Given the description of an element on the screen output the (x, y) to click on. 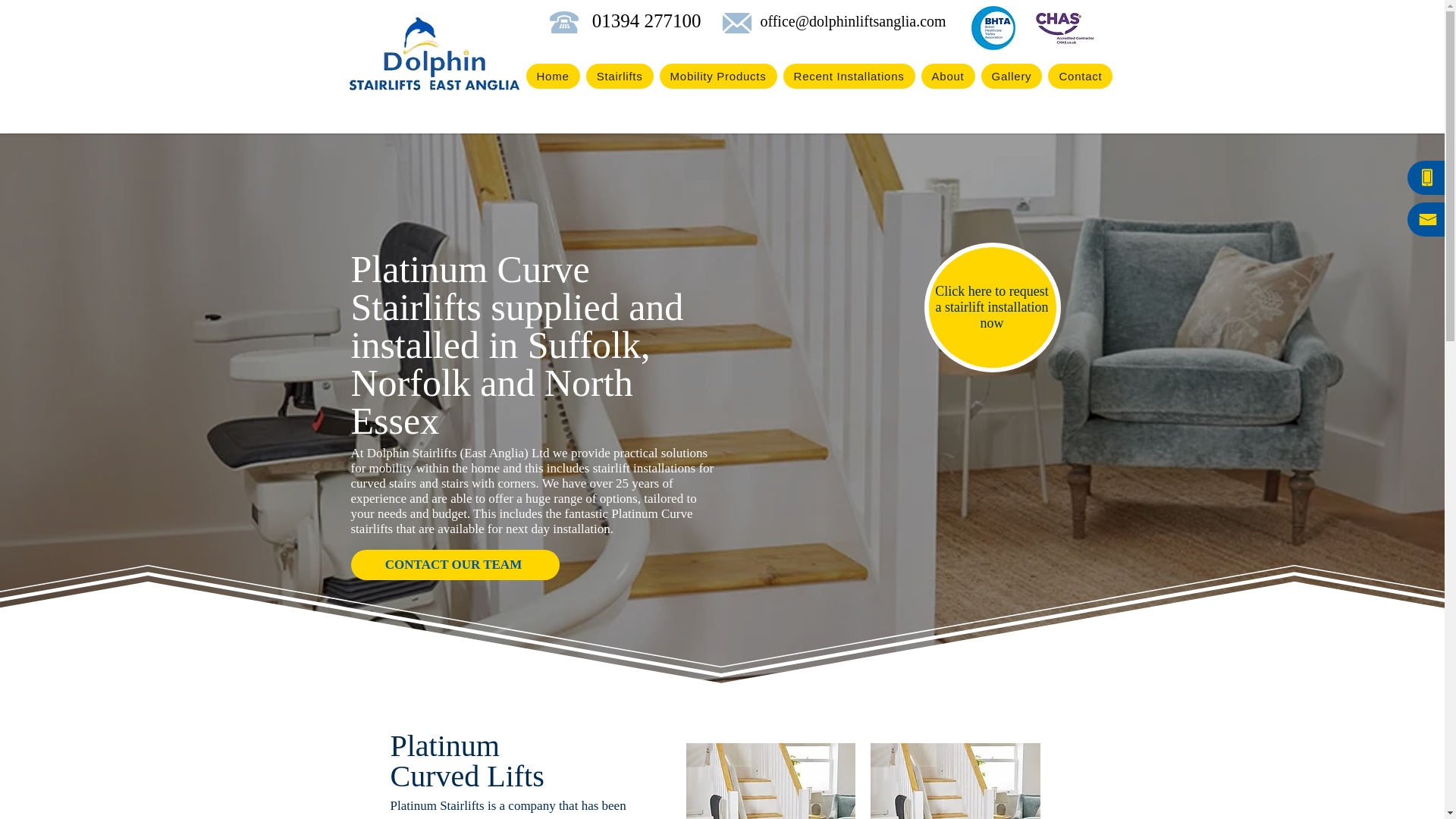
Home (552, 75)
CONTACT OUR TEAM (454, 564)
Click here to request a stairlift installation now (991, 306)
Stairlifts (619, 75)
Recent Installations (849, 75)
 01394 277100 (643, 20)
Gallery (1011, 75)
Contact (1080, 75)
